Given the description of an element on the screen output the (x, y) to click on. 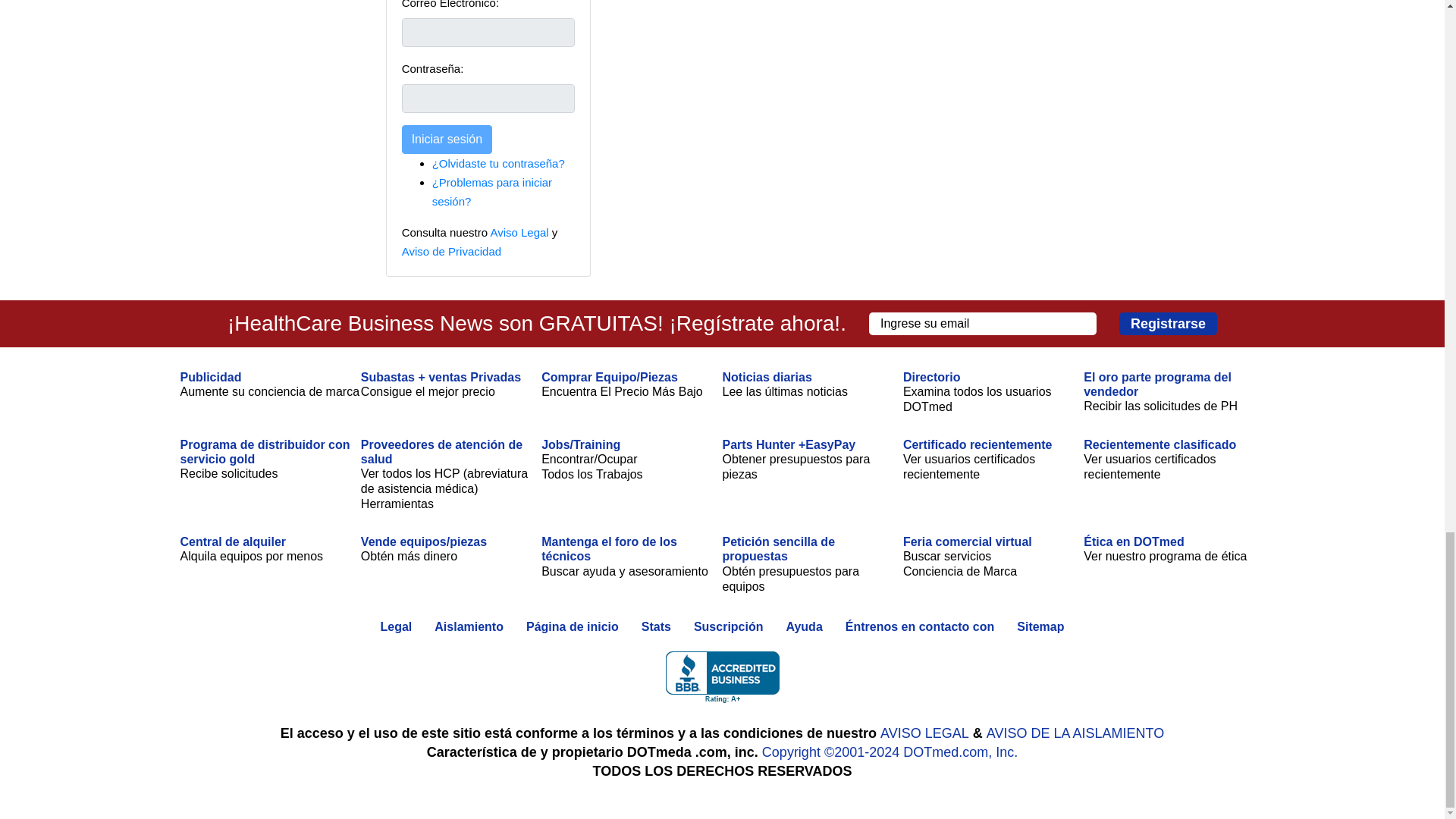
Forget your password? (498, 163)
Login Problems? (491, 192)
